Given the description of an element on the screen output the (x, y) to click on. 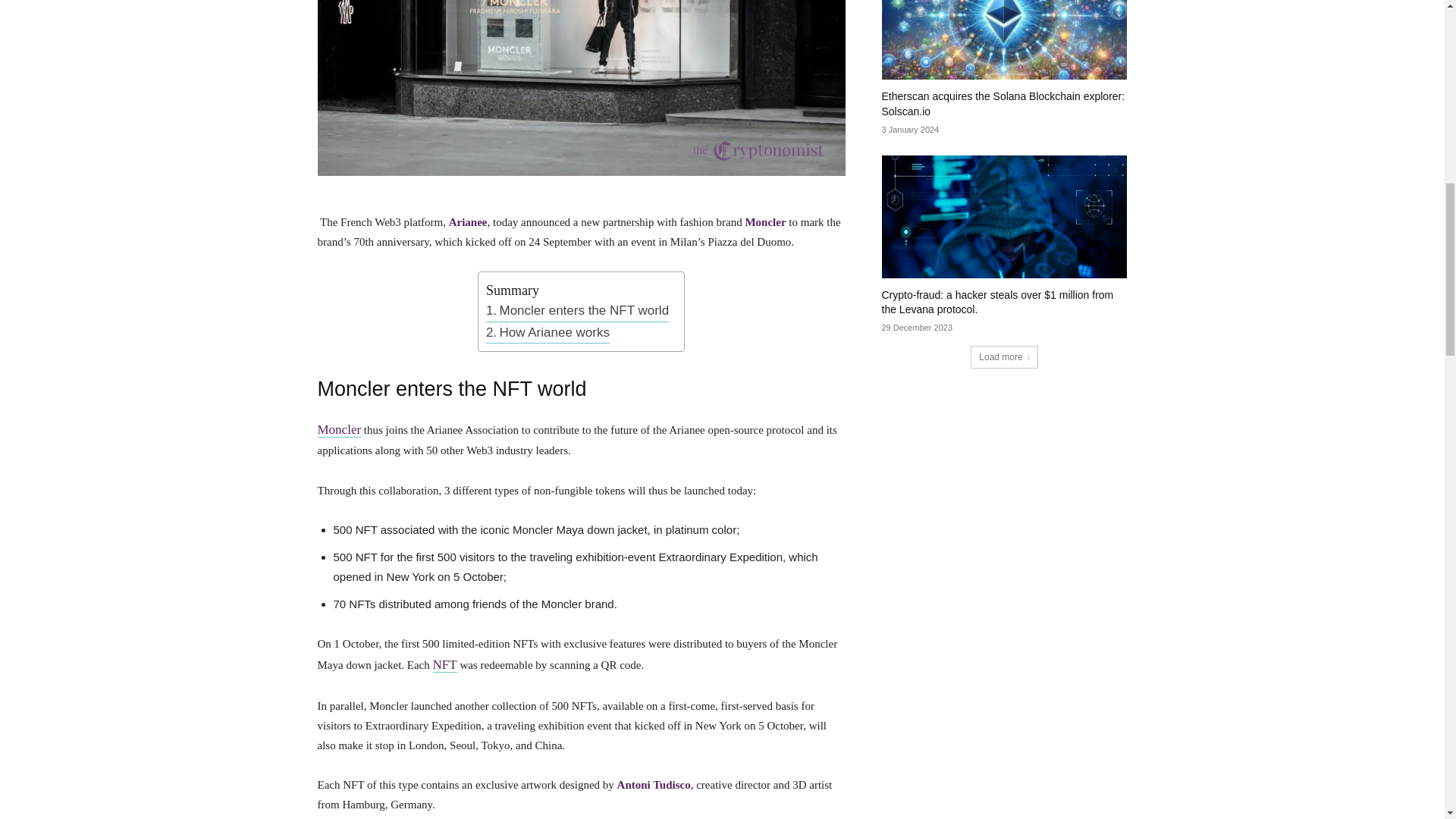
How Arianee works (548, 332)
Moncler enters the NFT world (577, 310)
moncler nft metaverse (580, 88)
